Given the description of an element on the screen output the (x, y) to click on. 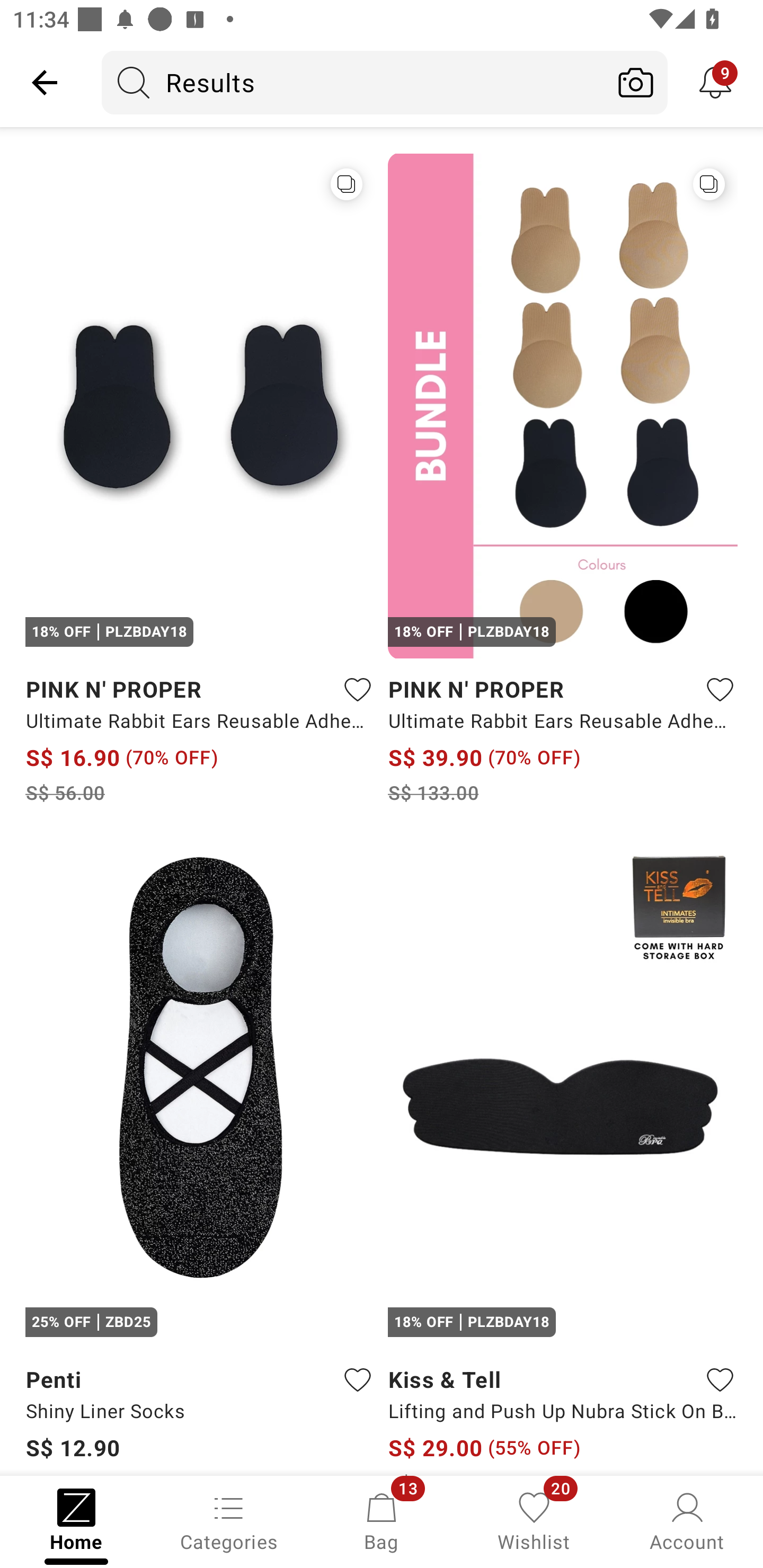
Navigate up (44, 82)
Results (352, 82)
Categories (228, 1519)
Bag, 13 new notifications Bag (381, 1519)
Wishlist, 20 new notifications Wishlist (533, 1519)
Account (686, 1519)
